Given the description of an element on the screen output the (x, y) to click on. 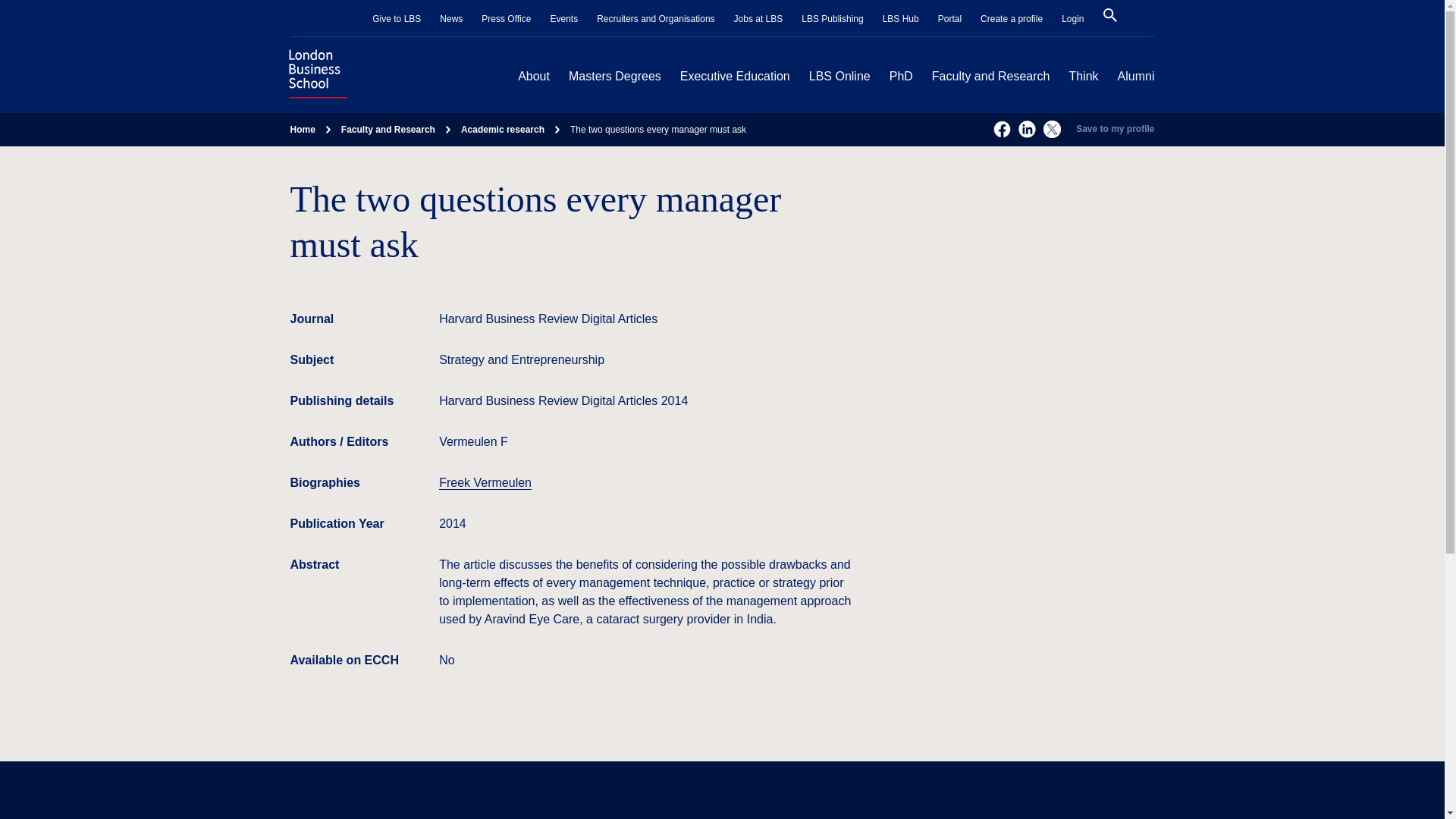
Executive Education (734, 75)
LBS Online (839, 75)
Alumni (1136, 75)
Create a profile (1010, 18)
Think (1082, 75)
Press Office (506, 18)
Jobs at LBS (758, 18)
News (451, 18)
You must log in before saving (1114, 129)
Masters Degrees (615, 75)
Faculty and Research (990, 75)
About (534, 75)
Portal (948, 18)
LBS Publishing (832, 18)
LBS Hub (900, 18)
